Given the description of an element on the screen output the (x, y) to click on. 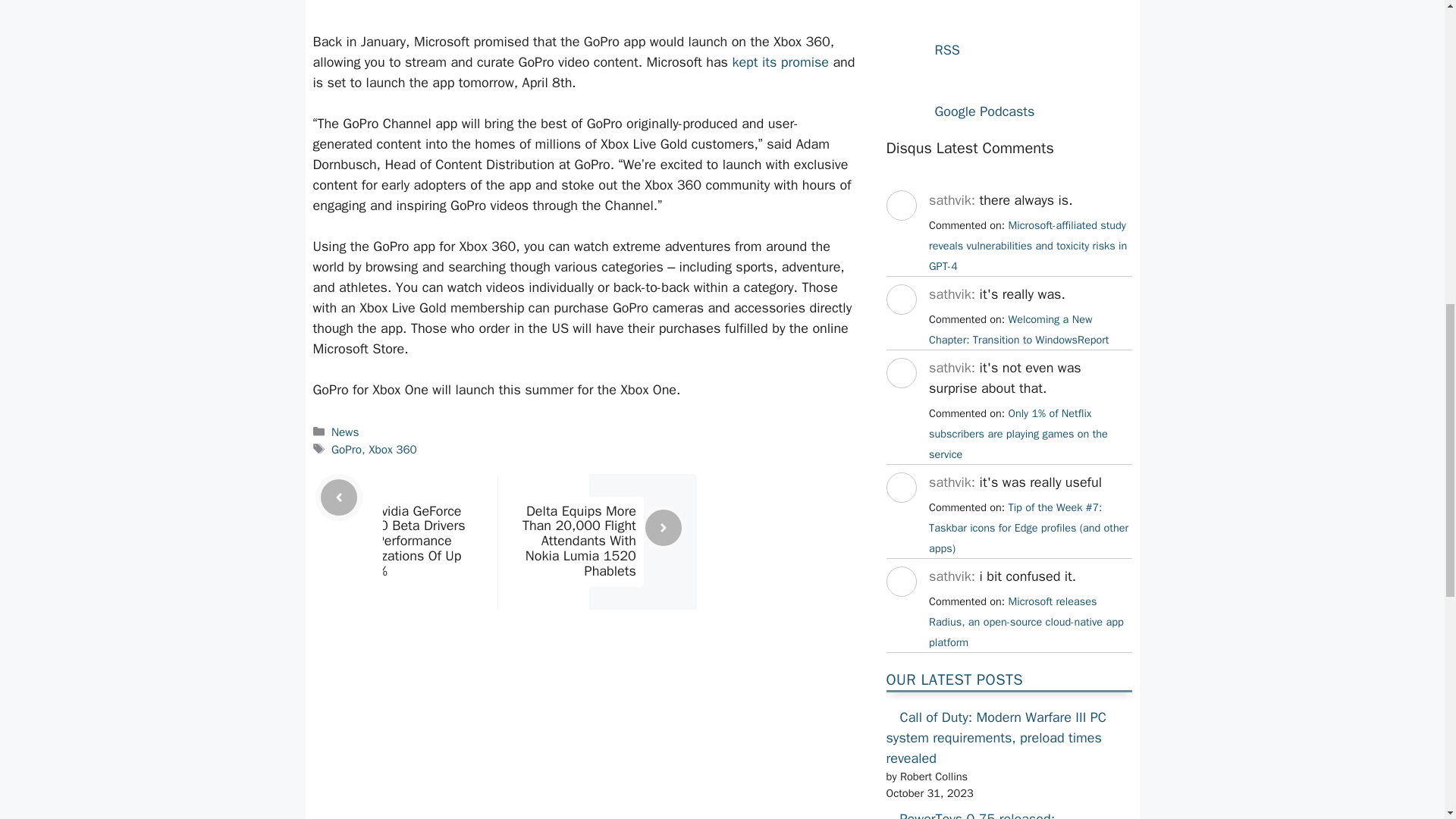
July 8, 2024 (1028, 527)
July 24, 2024 (1018, 329)
August 31, 2024 (1027, 245)
sathvik (900, 610)
sathvik (900, 515)
July 11, 2024 (1018, 433)
sathvik (900, 328)
sathvik (900, 401)
sathvik (900, 234)
